Given the description of an element on the screen output the (x, y) to click on. 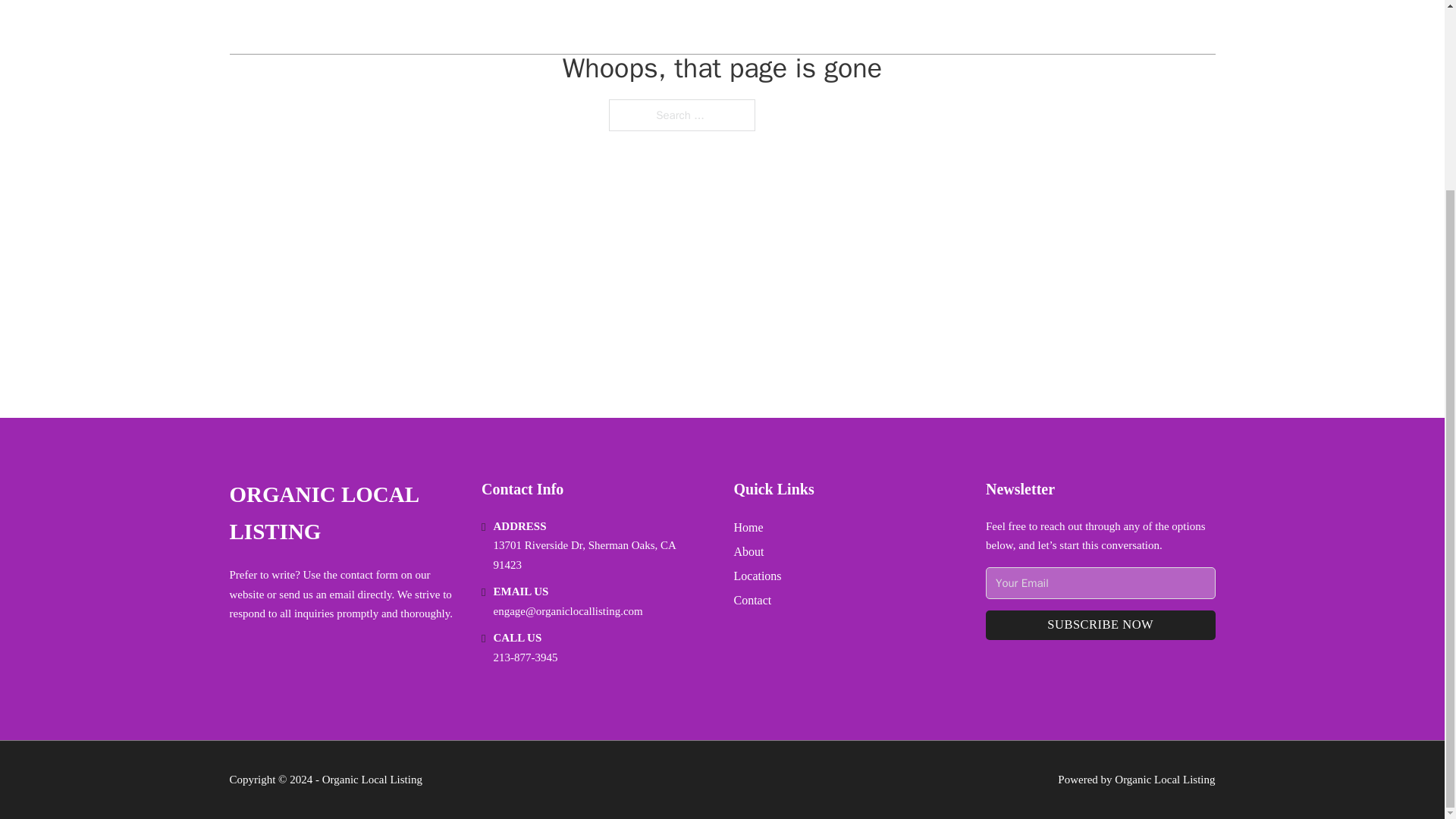
213-877-3945 (525, 657)
Locations (757, 575)
SUBSCRIBE NOW (1100, 624)
Home (747, 526)
Contact (752, 599)
ORGANIC LOCAL LISTING (343, 513)
About (748, 551)
